Given the description of an element on the screen output the (x, y) to click on. 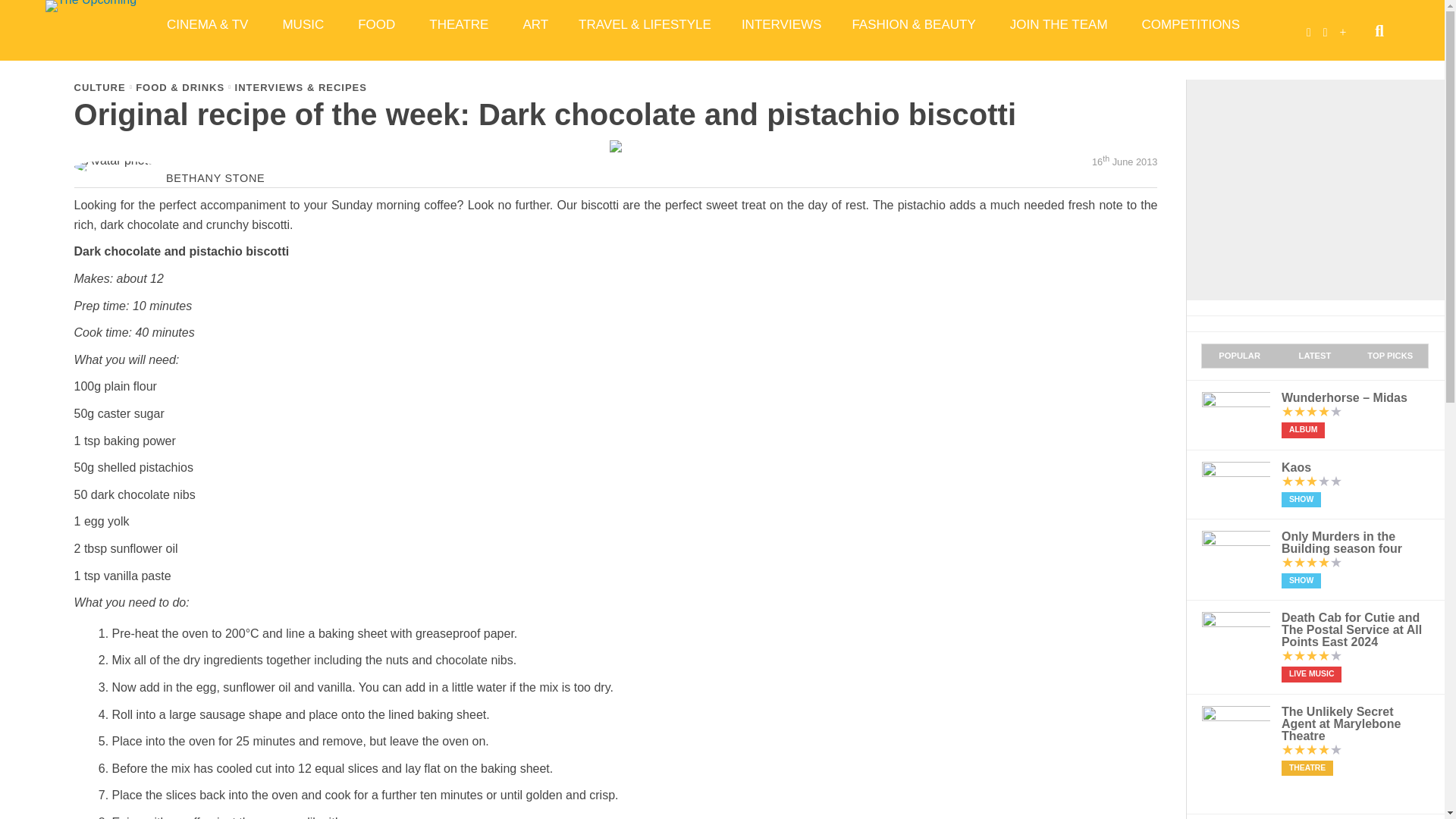
FOOD (377, 24)
ART (534, 24)
MUSIC (304, 24)
INTERVIEWS (780, 24)
THEATRE (459, 24)
JOIN THE TEAM (1060, 24)
